Given the description of an element on the screen output the (x, y) to click on. 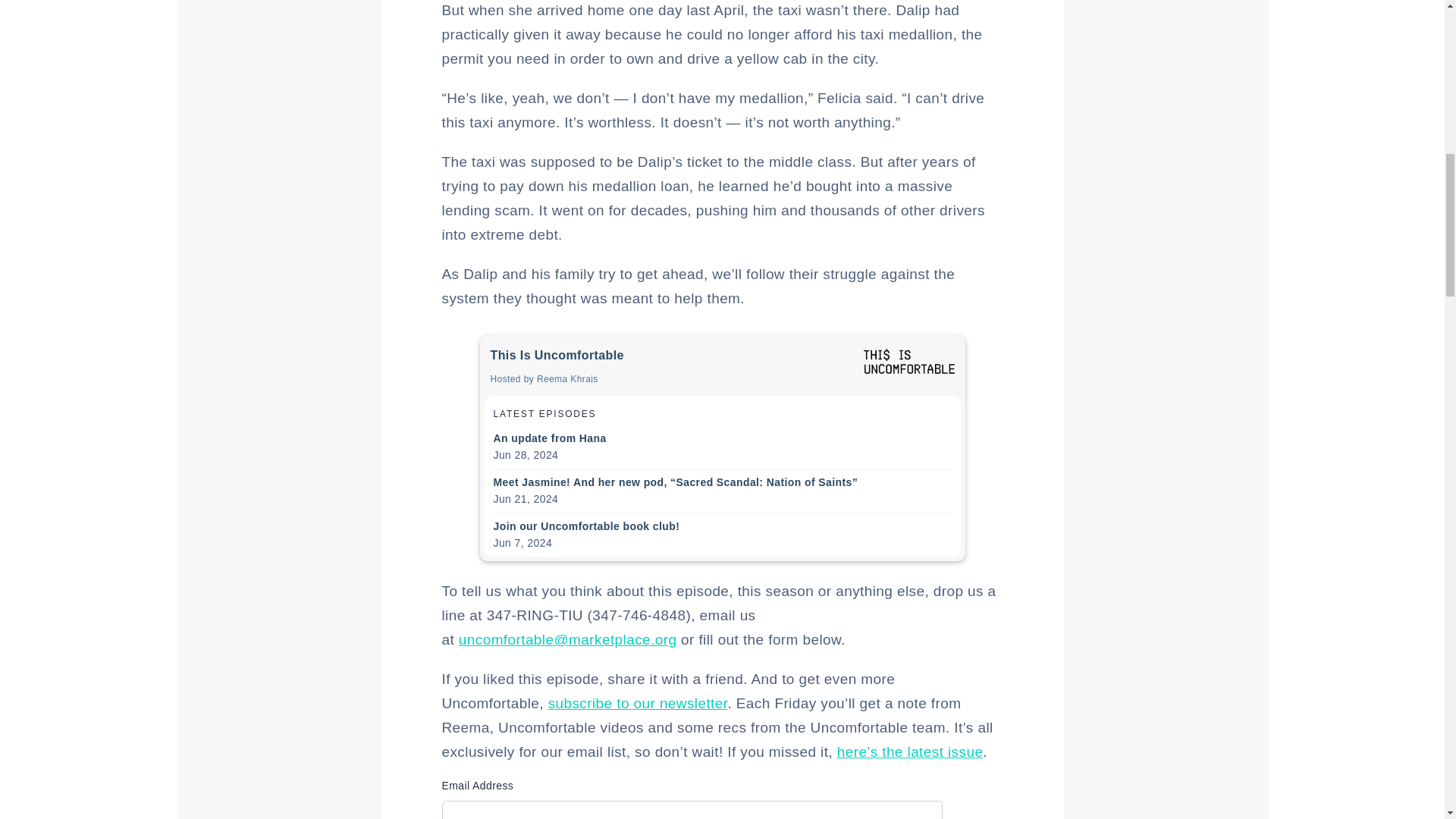
This Is Uncomfortable (908, 360)
Email Address (691, 809)
